Given the description of an element on the screen output the (x, y) to click on. 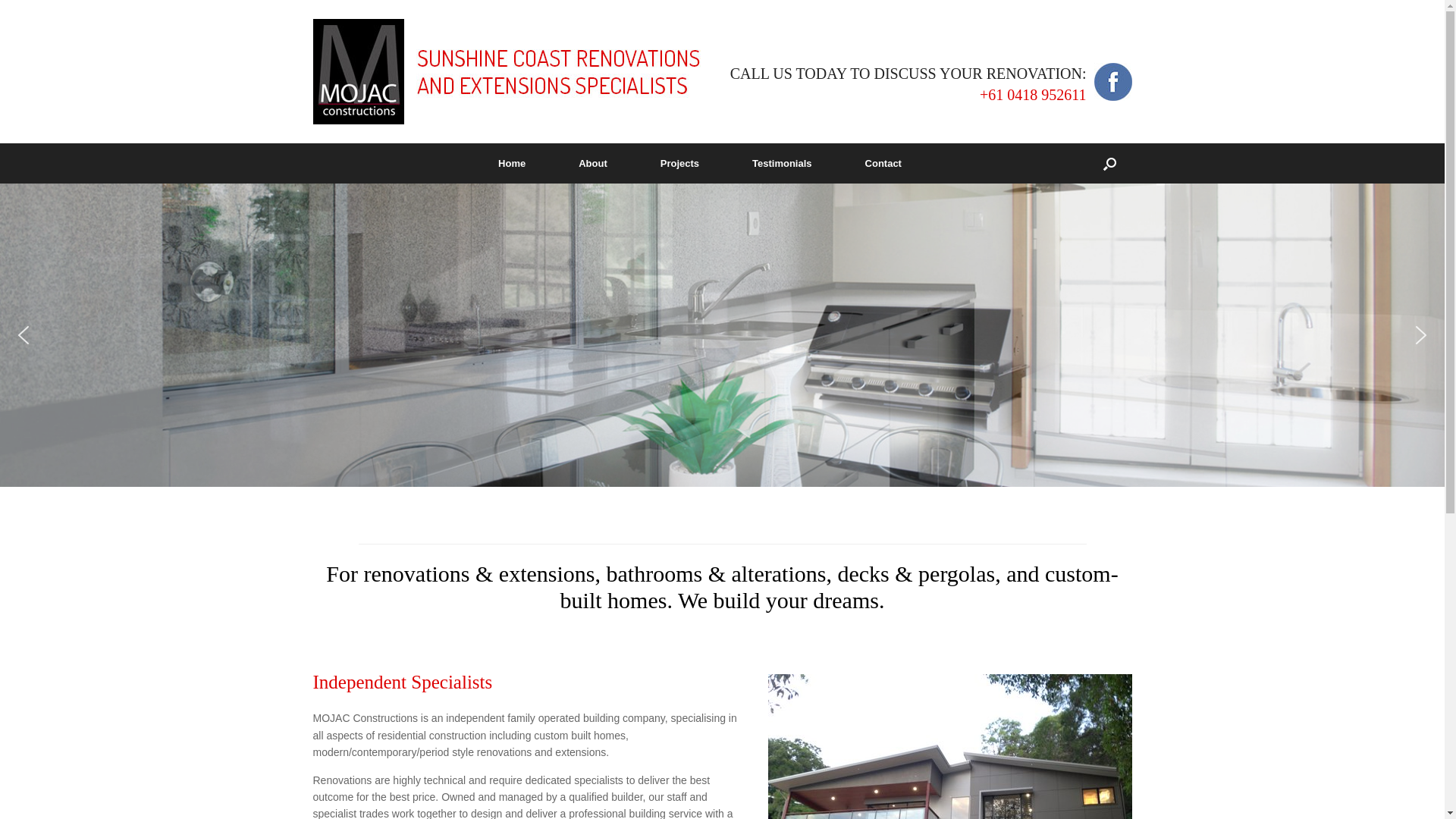
About Element type: text (592, 163)
Contact Element type: text (883, 163)
Projects Element type: text (679, 163)
Testimonials Element type: text (781, 163)
Home Element type: text (511, 163)
